Given the description of an element on the screen output the (x, y) to click on. 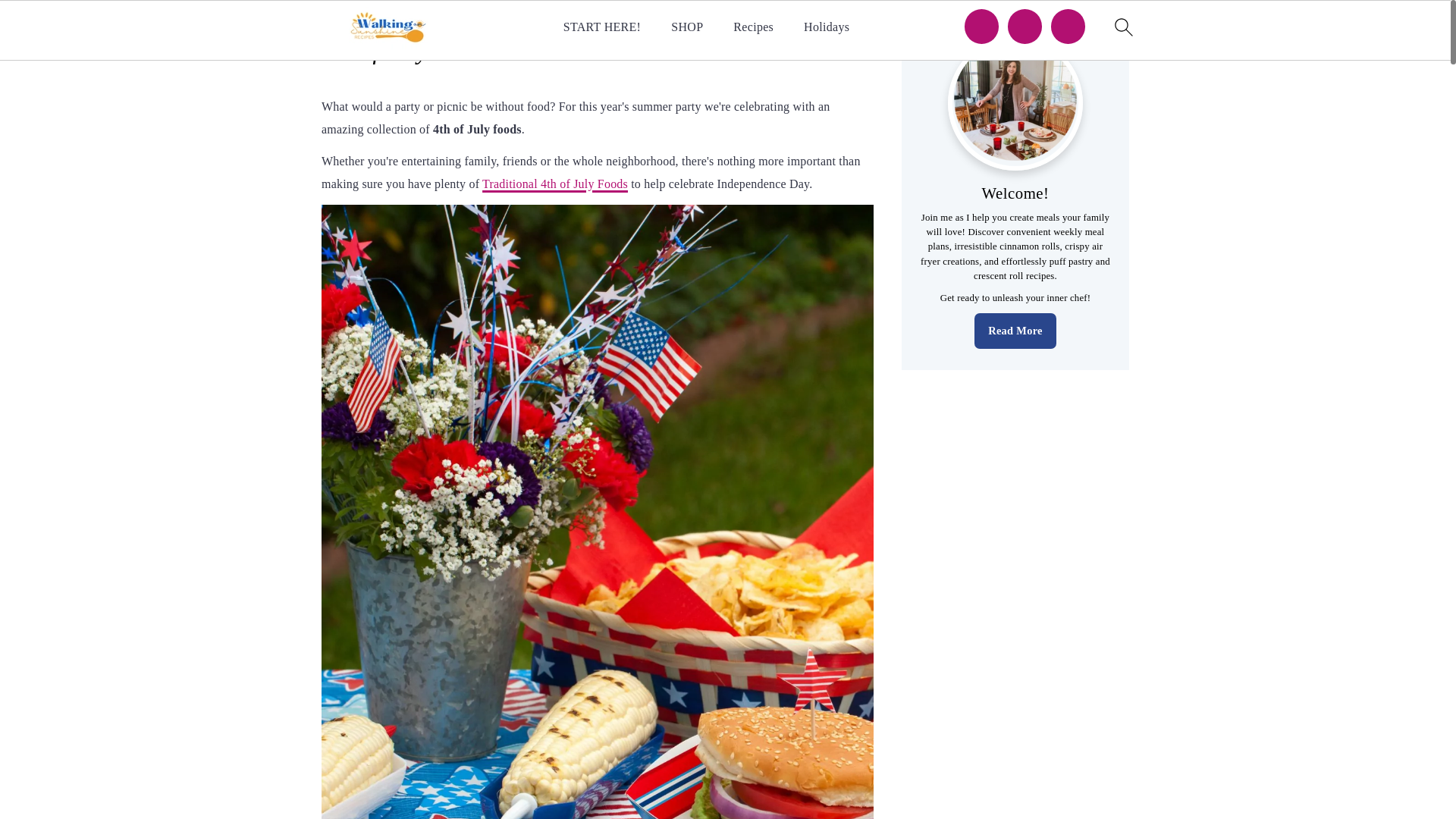
START HERE! (602, 26)
search icon (1122, 26)
Traditional 4th of July Foods (554, 183)
Holidays (825, 26)
SHOP (687, 26)
Recipes (753, 26)
